Given the description of an element on the screen output the (x, y) to click on. 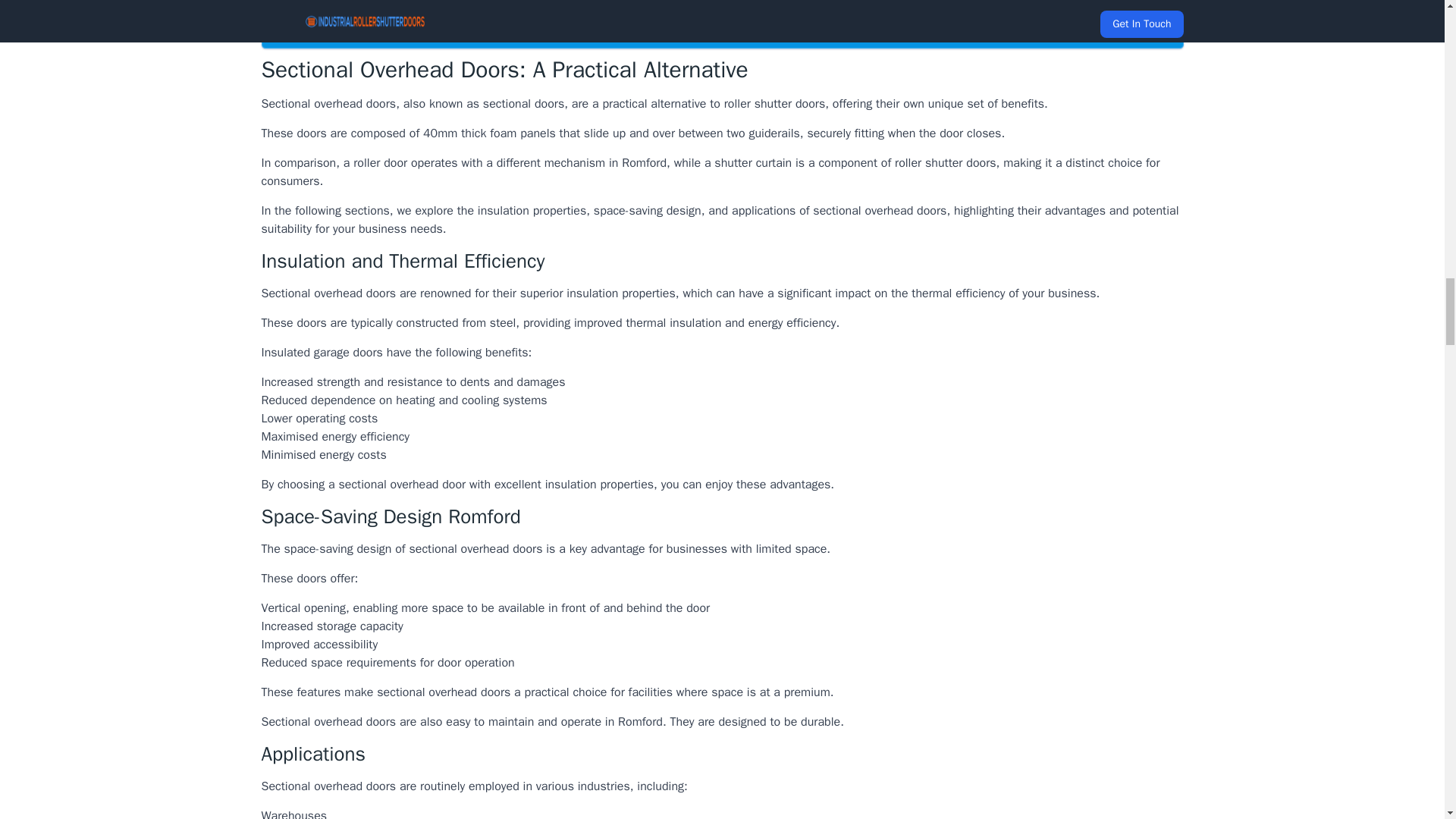
CONTACT OUR TEAM FOR BEST RATES IN ROMFORD (721, 32)
